Given the description of an element on the screen output the (x, y) to click on. 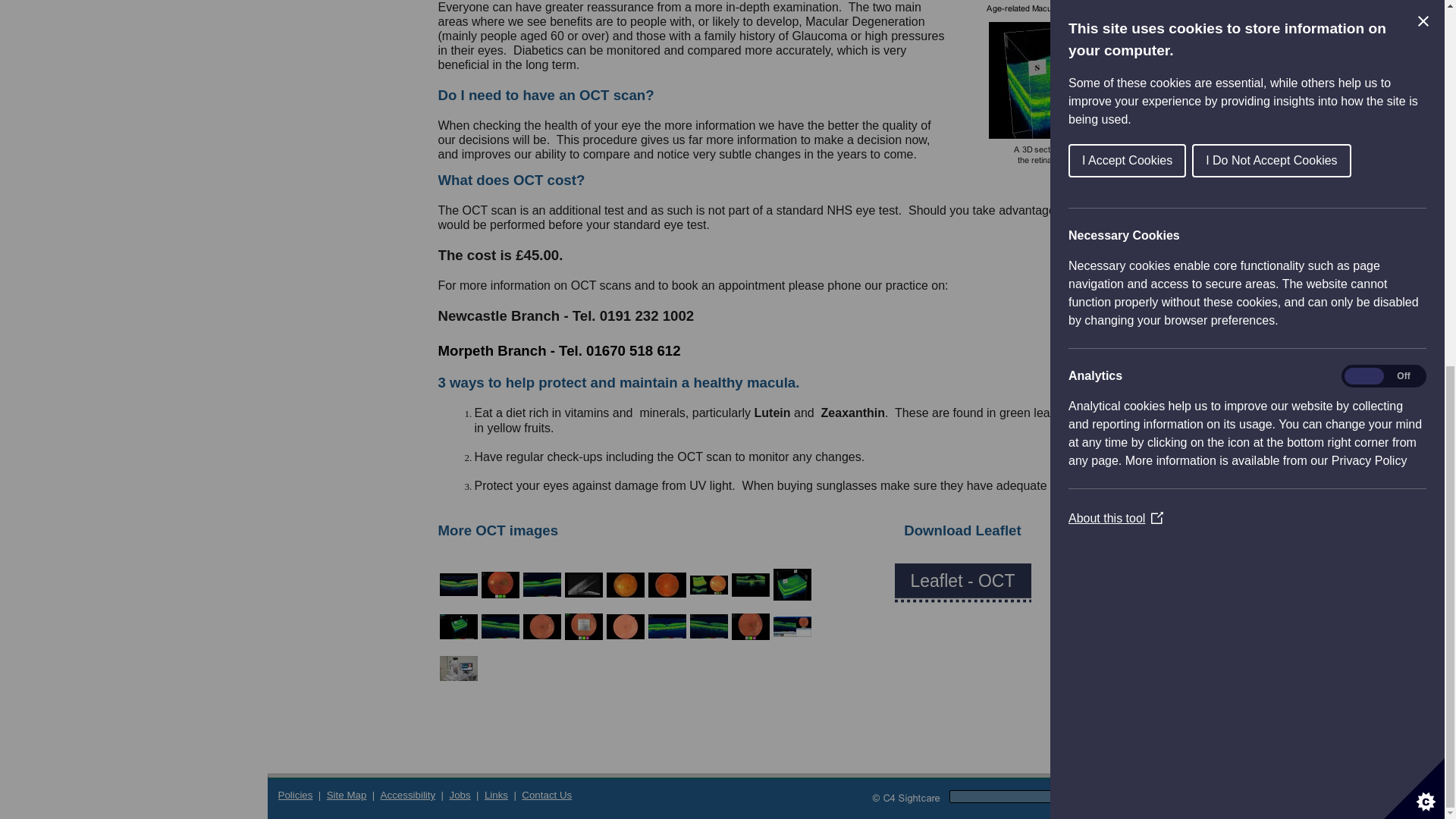
Jobs (459, 794)
Links (496, 794)
Contact Us (546, 794)
Policies (295, 794)
Site Map (346, 794)
Accessibility (407, 794)
Search (1136, 796)
